Given the description of an element on the screen output the (x, y) to click on. 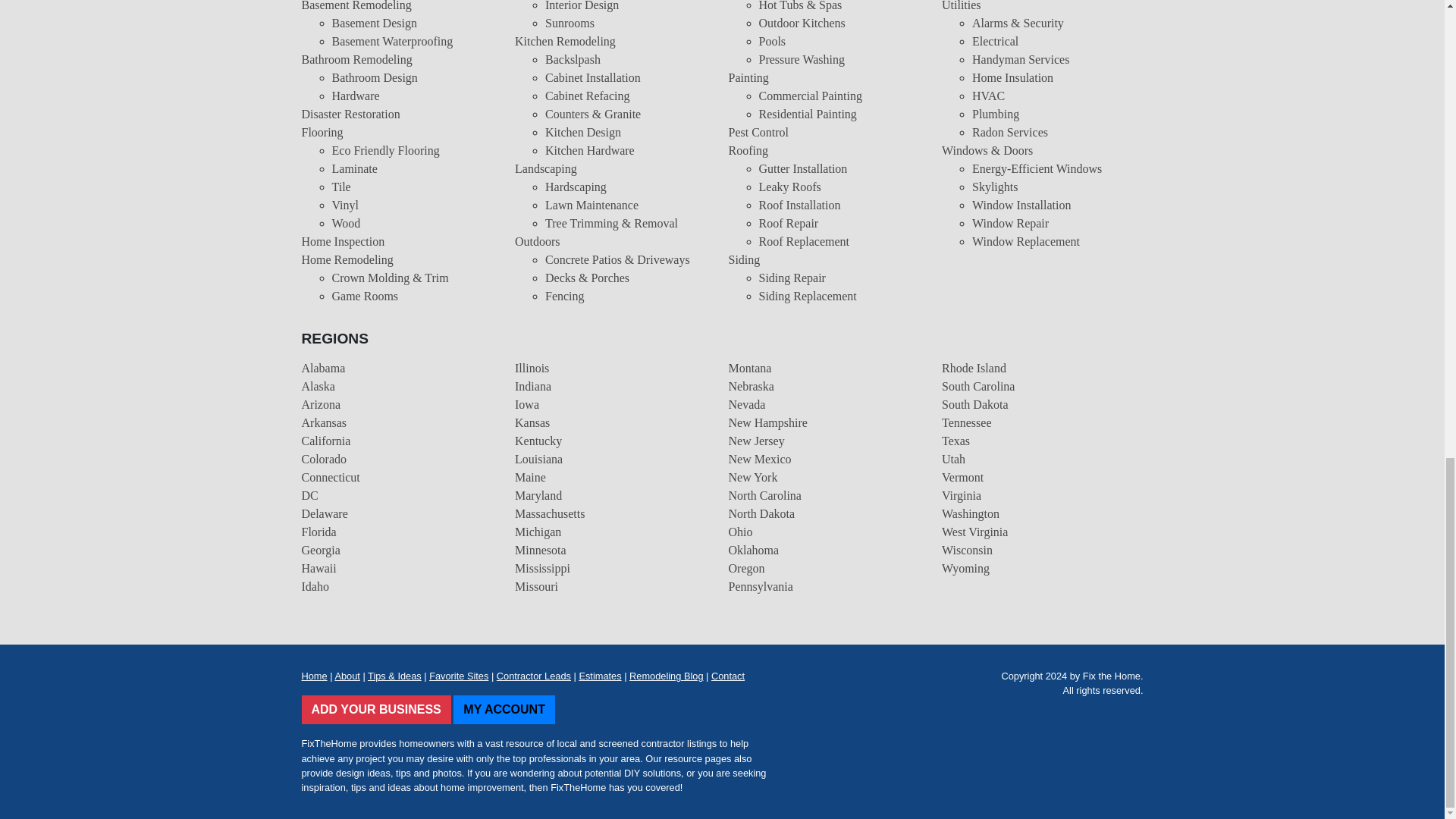
Bathroom Remodeling (356, 59)
Basement Design (373, 22)
Basement Waterproofing (391, 41)
Basement Remodeling (356, 5)
